Given the description of an element on the screen output the (x, y) to click on. 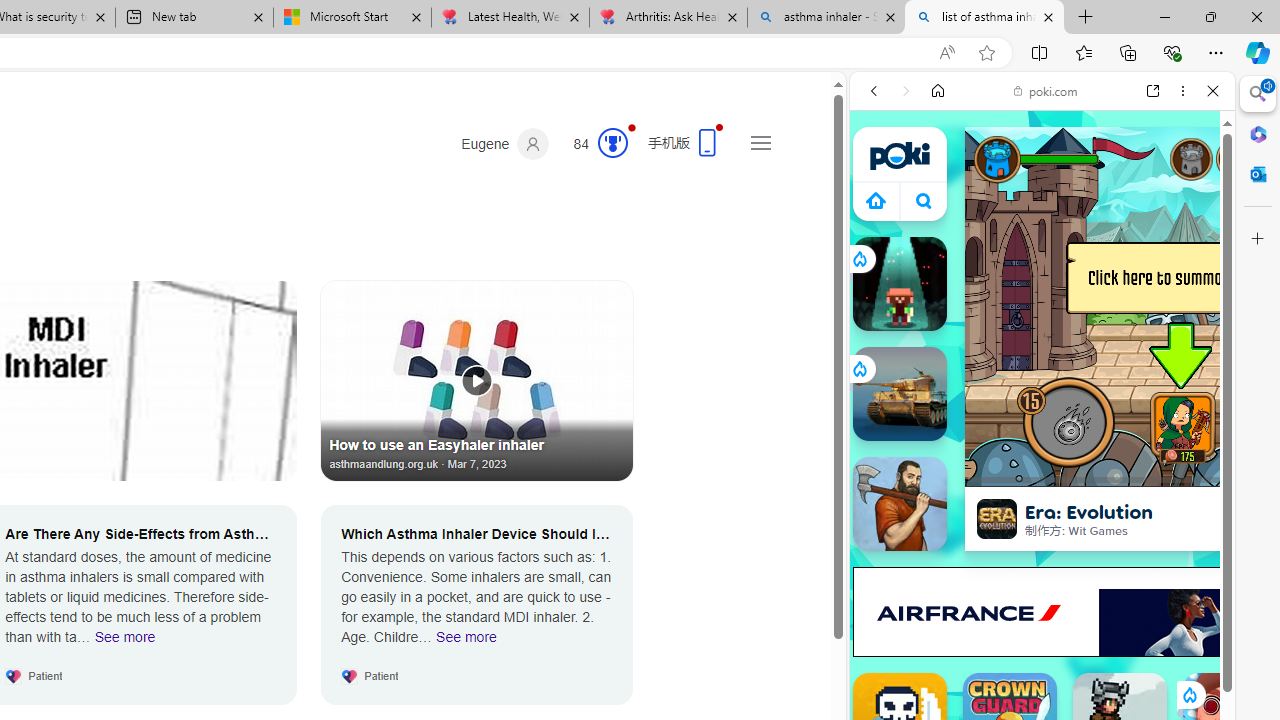
Arthritis: Ask Health Professionals (668, 17)
Io Games (1042, 617)
Class: B_5ykBA46kDOxiz_R9wm (923, 200)
Io Games (1042, 616)
Show More Two Player Games (1164, 570)
